Given the description of an element on the screen output the (x, y) to click on. 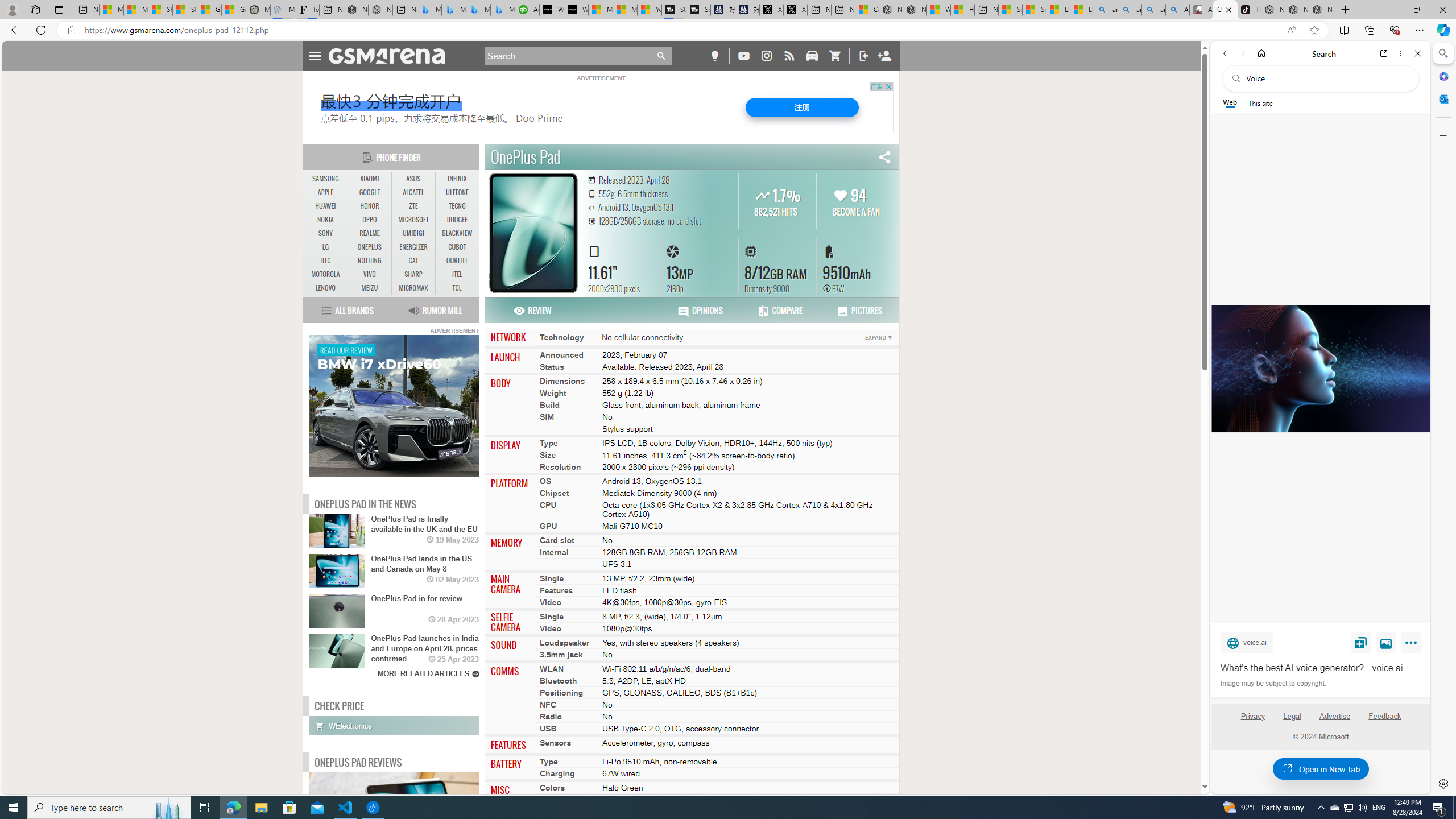
AutomationID: anchor (391, 55)
Address and search bar (680, 29)
MICROMAX (413, 287)
Gilma and Hector both pose tropical trouble for Hawaii (233, 9)
CAT (413, 260)
MICROSOFT (413, 219)
Toggle Navigation (314, 53)
ENERGIZER (413, 246)
XIAOMI (369, 178)
Customize (1442, 135)
HTC (325, 260)
To get missing image descriptions, open the context menu. (393, 405)
REALME (369, 233)
